Given the description of an element on the screen output the (x, y) to click on. 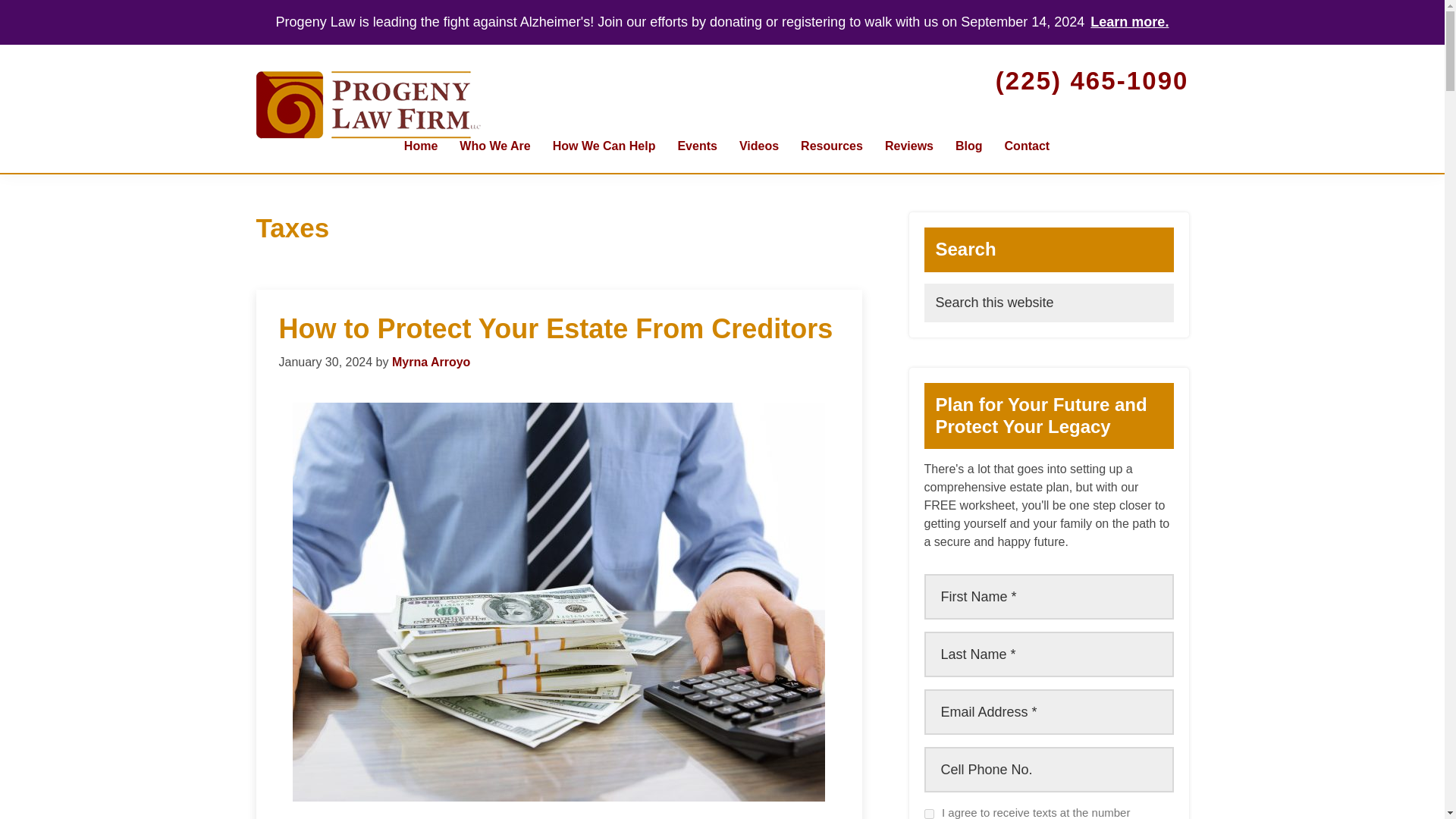
Permission Granted (928, 814)
Videos (758, 146)
Who We Are (493, 146)
Learn more. (1129, 21)
Home (420, 146)
Events (696, 146)
How We Can Help (604, 146)
